Given the description of an element on the screen output the (x, y) to click on. 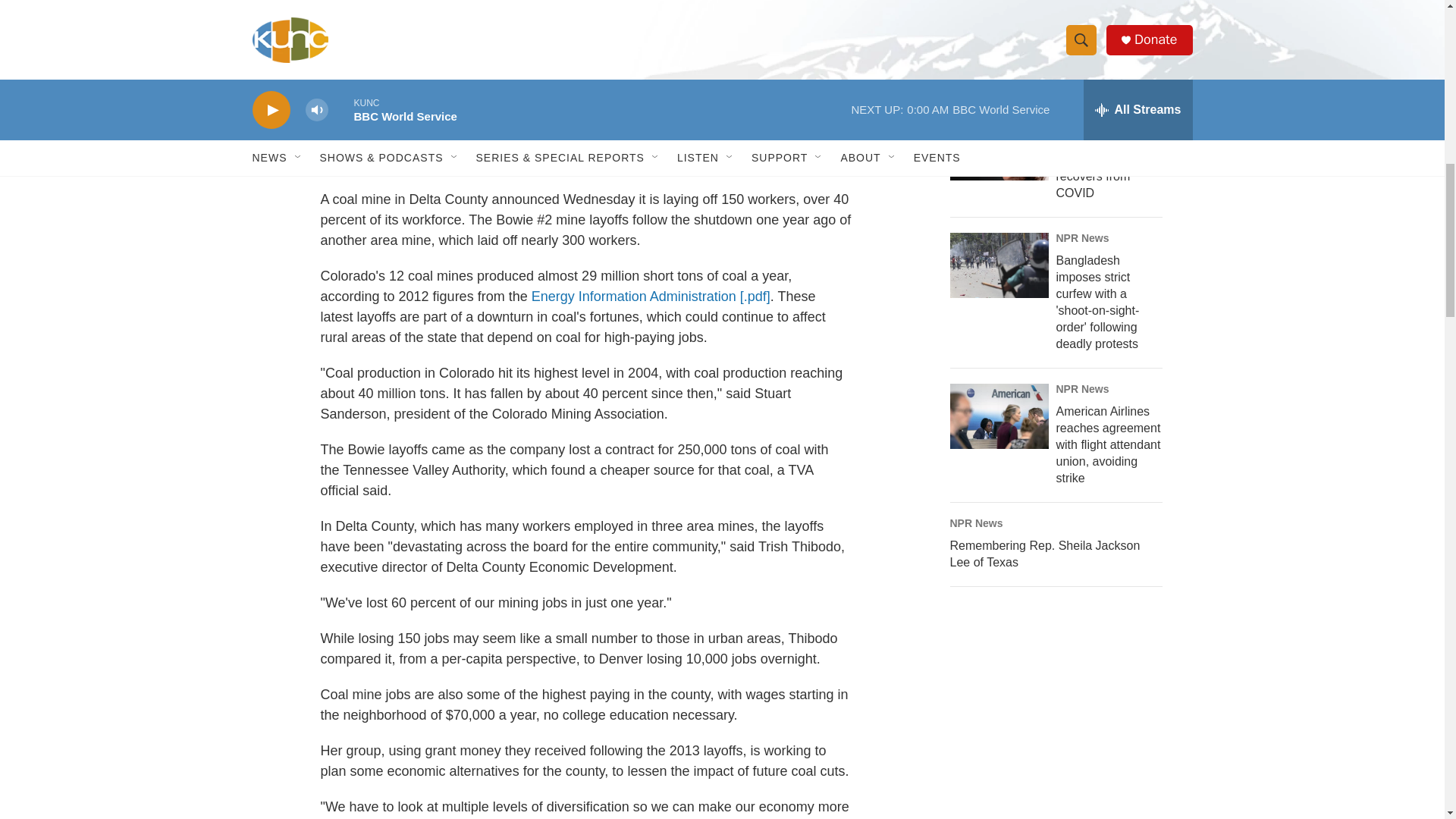
3rd party ad content (1062, 711)
